Given the description of an element on the screen output the (x, y) to click on. 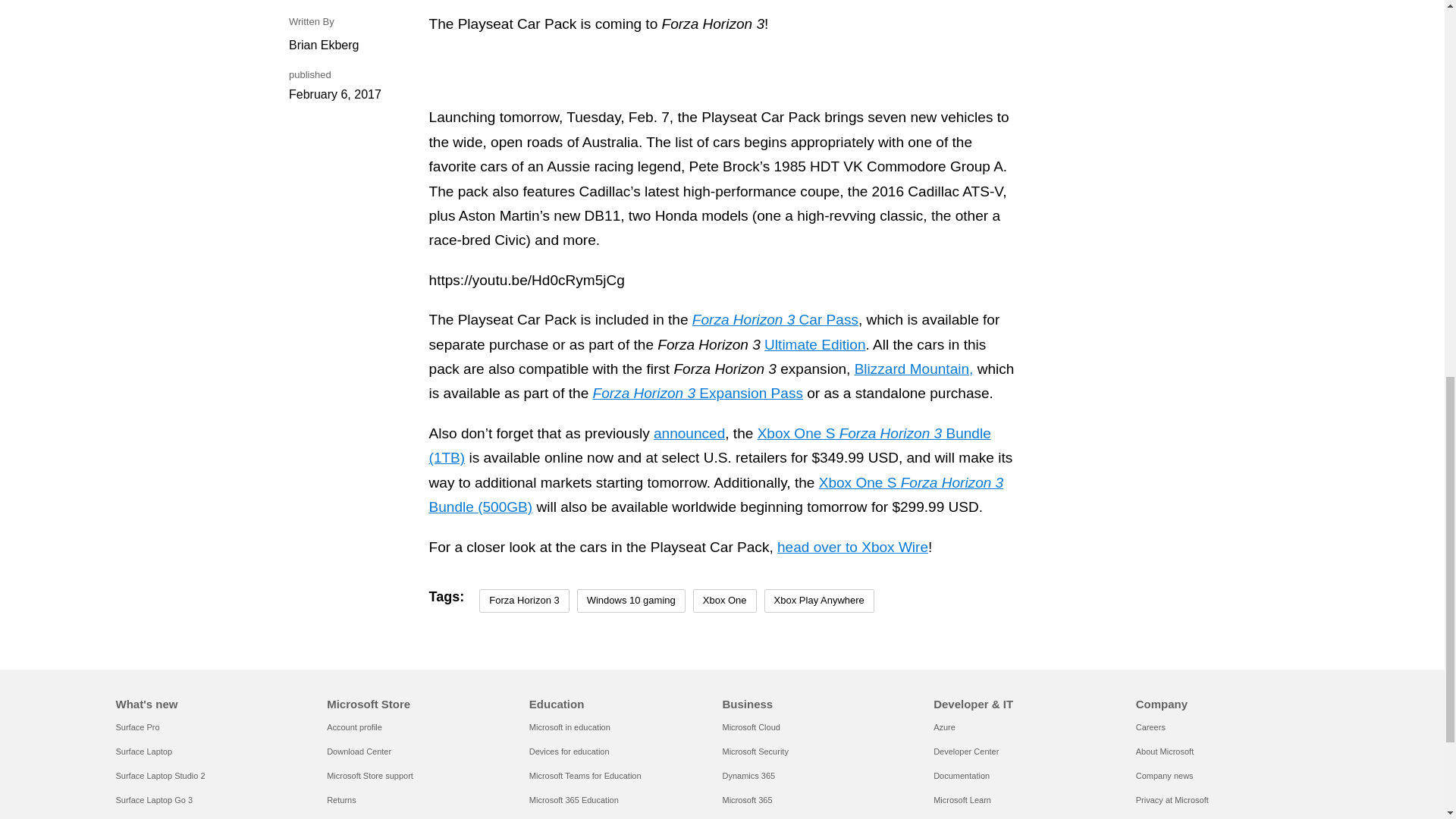
Xbox Play Anywhere Tag (819, 600)
Xbox One Tag (725, 600)
Windows 10 gaming Tag (630, 600)
Forza Horizon 3 Tag (524, 600)
